Given the description of an element on the screen output the (x, y) to click on. 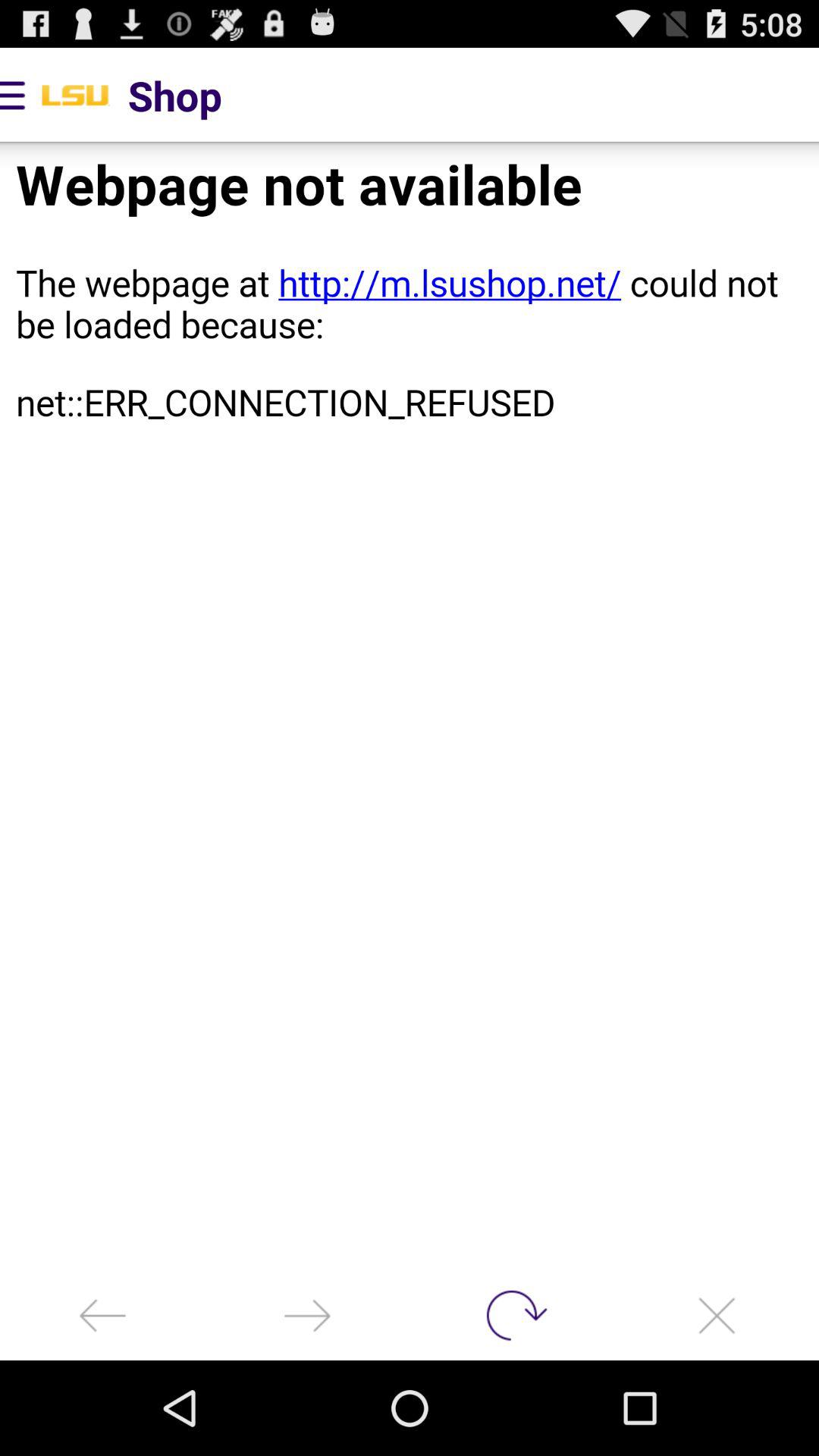
cut button (716, 1315)
